Given the description of an element on the screen output the (x, y) to click on. 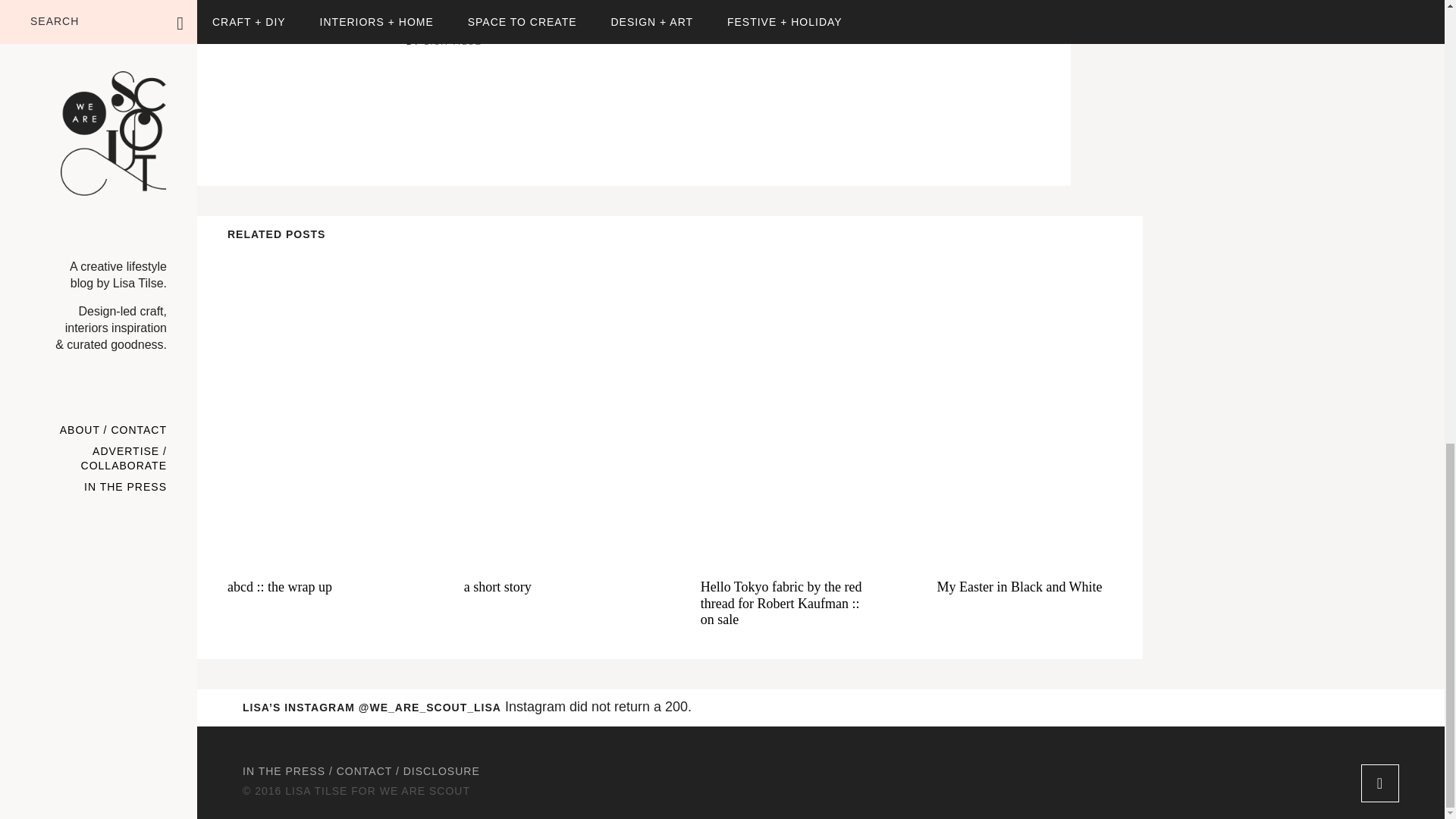
Permanent Link toa short story (551, 587)
Permanent Link toMy Easter in Black and White (1023, 404)
Permanent Link toMy Easter in Black and White (1023, 587)
Permanent Link toabcd :: the wrap up (314, 404)
Permanent Link toa short story (551, 404)
Permanent Link toabcd :: the wrap up (314, 587)
